Given the description of an element on the screen output the (x, y) to click on. 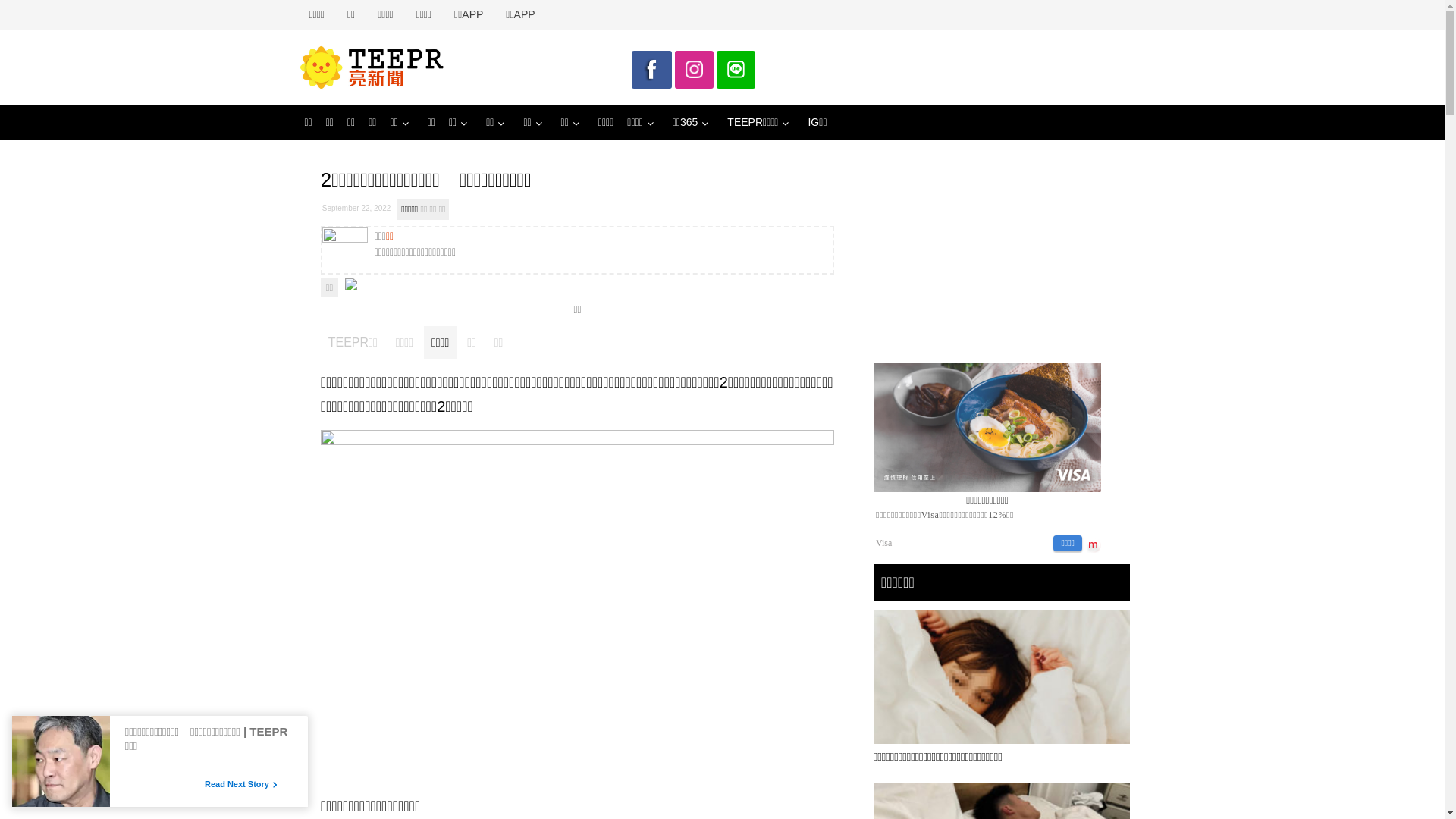
Sponsored Element type: text (220, 744)
